Given the description of an element on the screen output the (x, y) to click on. 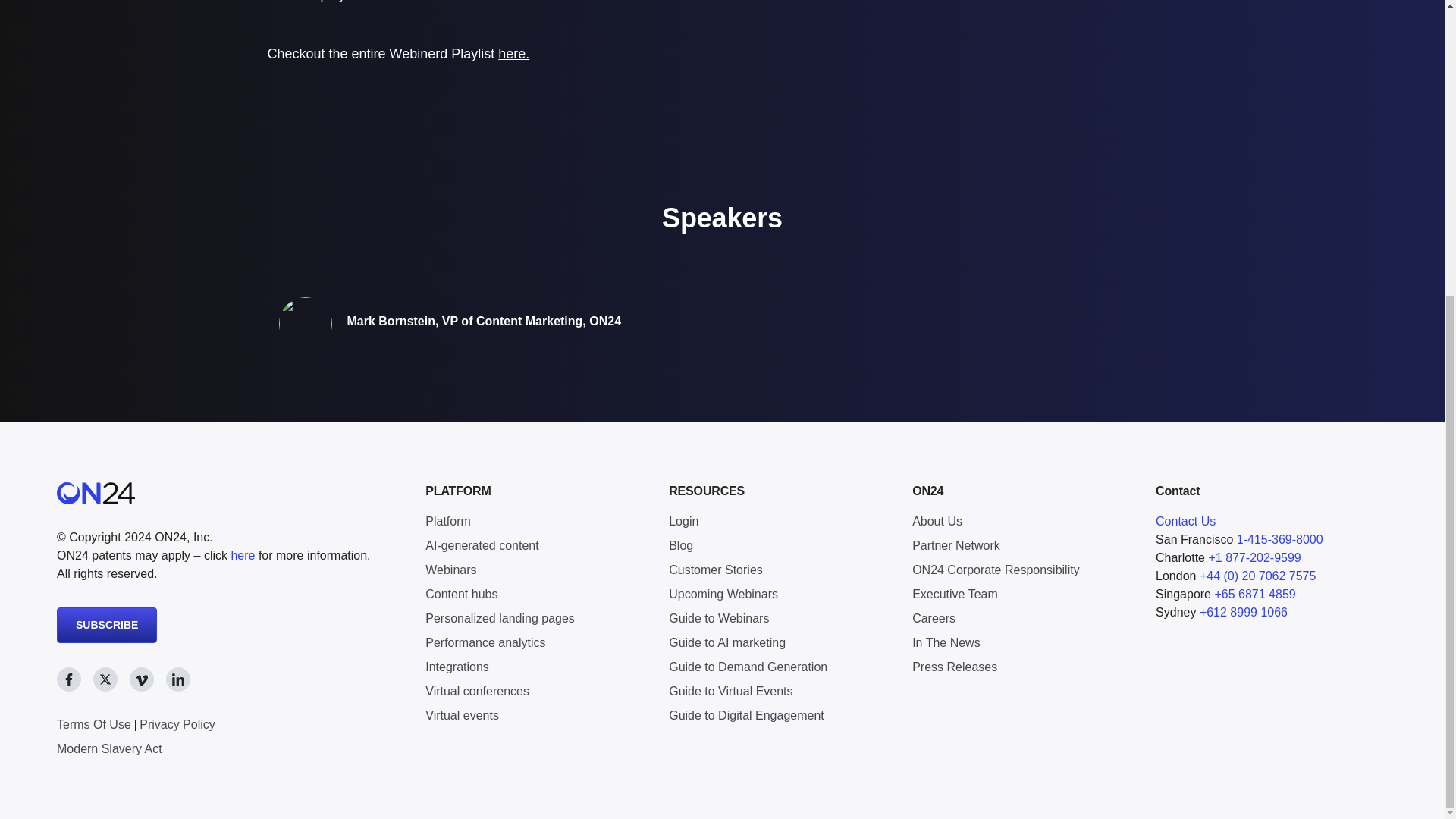
Careers (1022, 618)
Virtual events (535, 715)
Social media link (177, 679)
Social media link (105, 679)
Guide to Digital Engagement (778, 715)
Guide to Webinars (778, 618)
Partner Network (1022, 546)
Social media link (141, 679)
Blog (778, 546)
Guide to Demand Generation (778, 667)
